Given the description of an element on the screen output the (x, y) to click on. 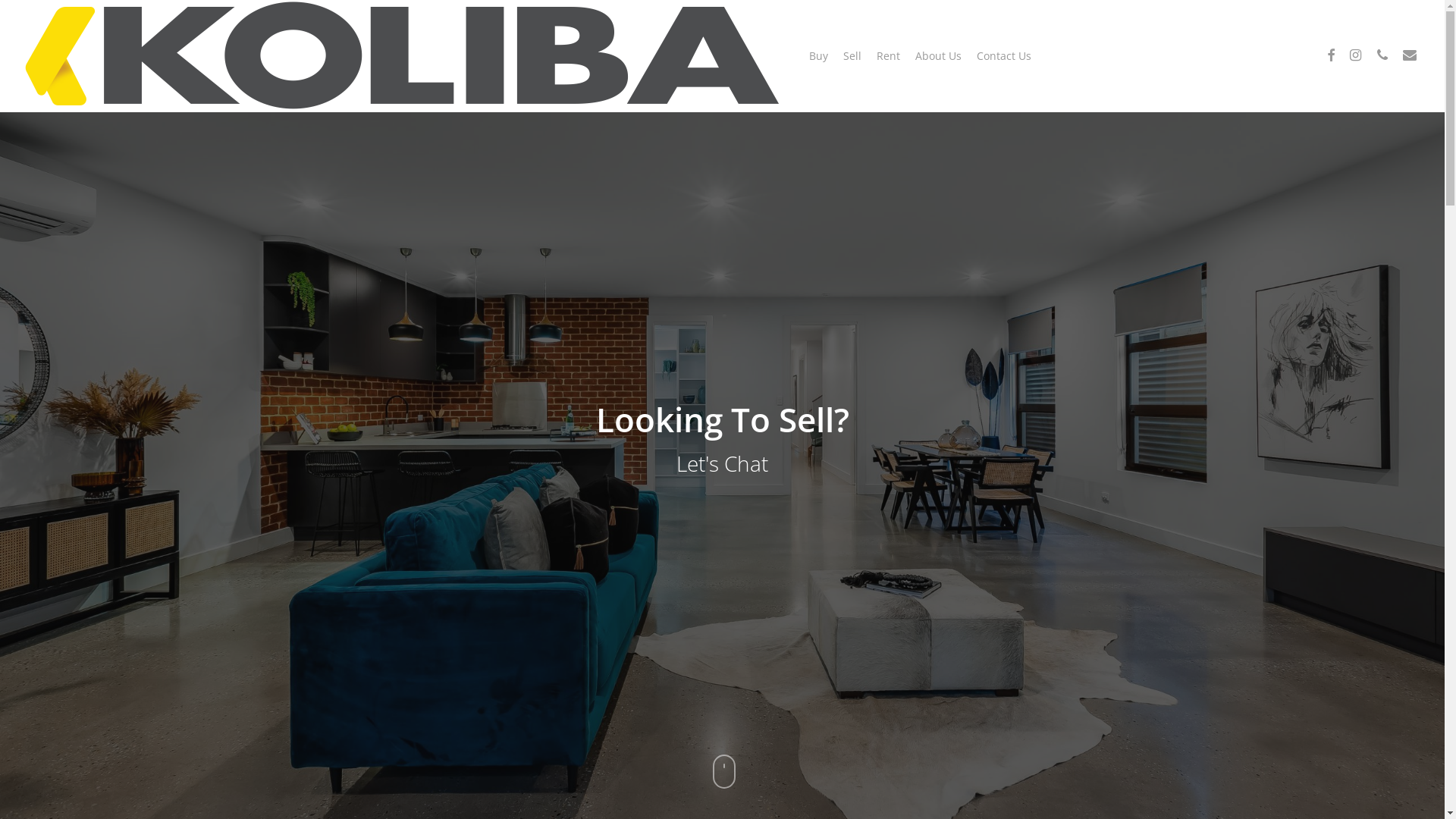
Rent Element type: text (888, 55)
About Us Element type: text (938, 55)
Contact Us Element type: text (1003, 55)
email Element type: text (1409, 55)
phone Element type: text (1382, 55)
instagram Element type: text (1354, 55)
Sell Element type: text (852, 55)
facebook Element type: text (1330, 55)
Buy Element type: text (818, 55)
